Given the description of an element on the screen output the (x, y) to click on. 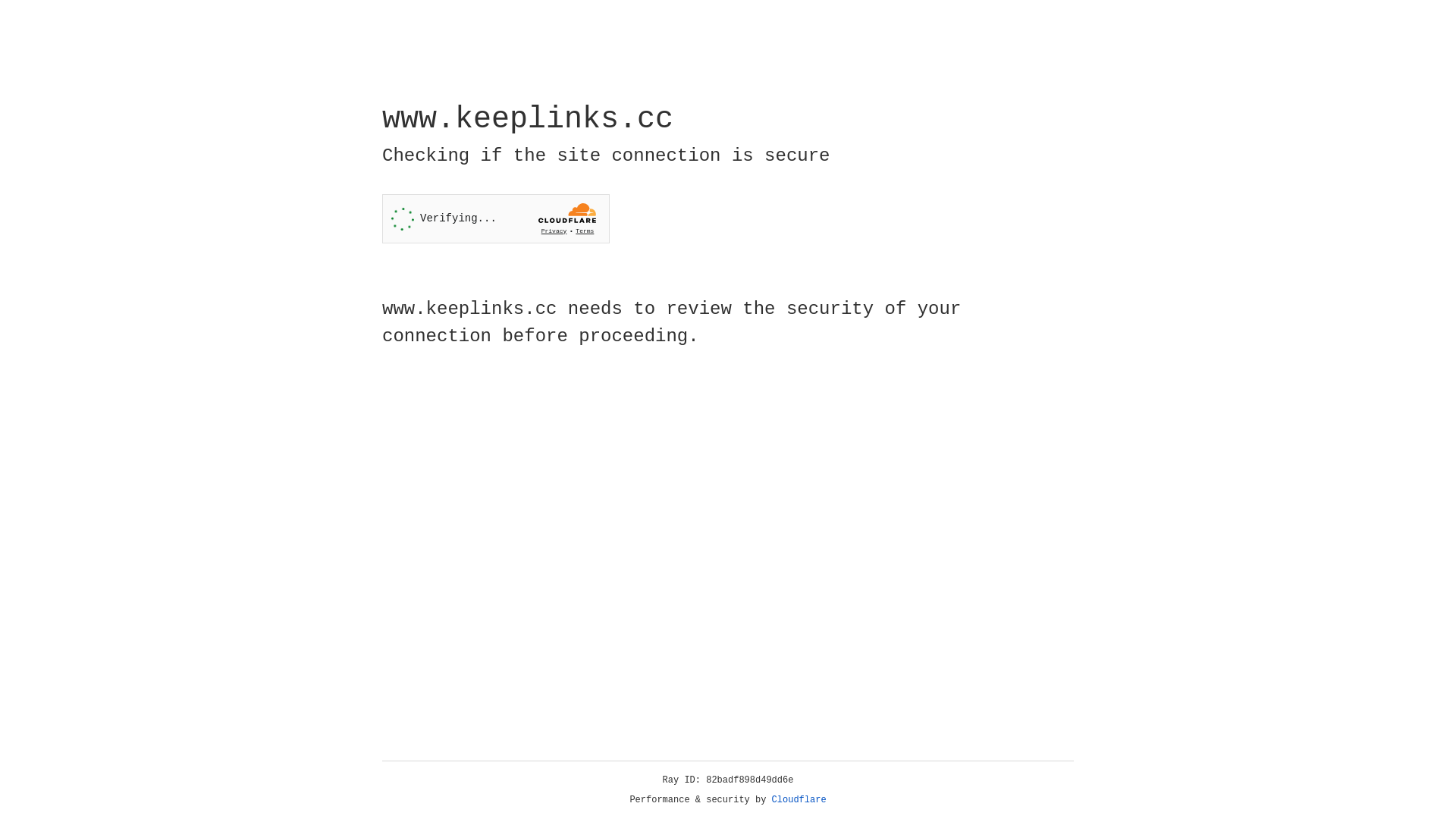
Cloudflare Element type: text (798, 799)
Widget containing a Cloudflare security challenge Element type: hover (495, 218)
